Given the description of an element on the screen output the (x, y) to click on. 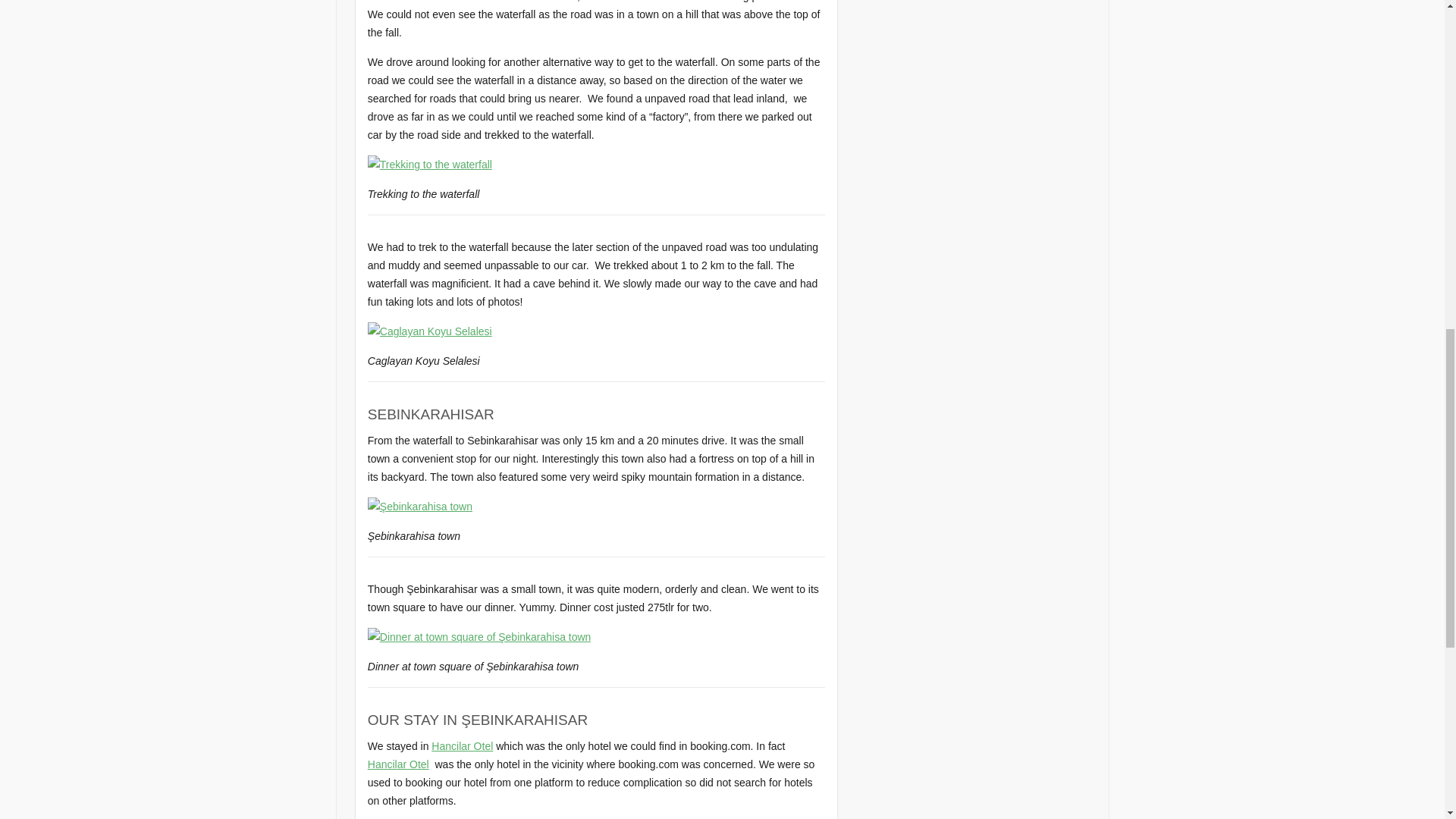
Caglayan Koyu Selalesi (430, 331)
Trekking to the waterfall (430, 164)
